Given the description of an element on the screen output the (x, y) to click on. 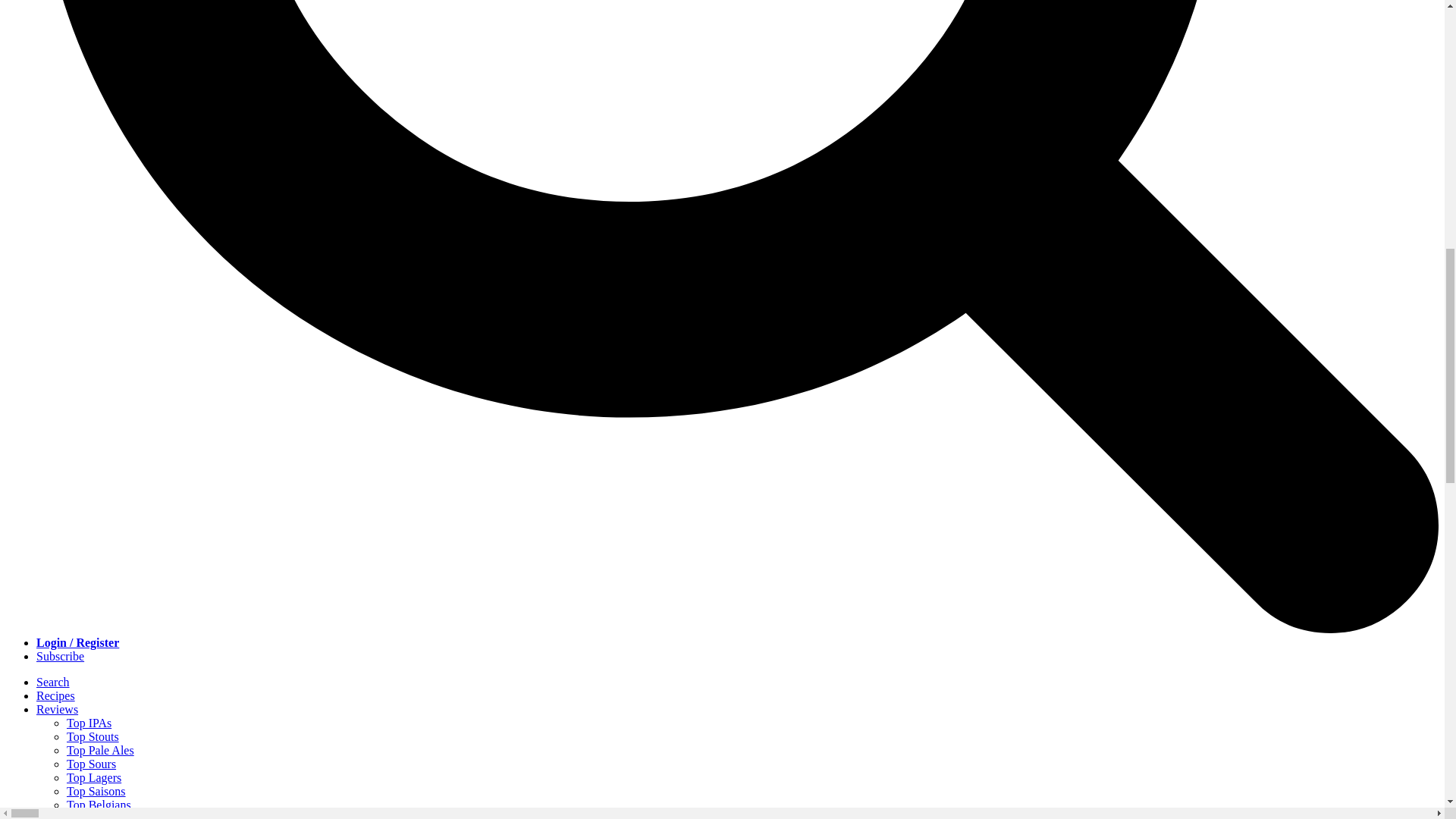
Top Belgians (98, 804)
Search All Reviews (113, 815)
Top Pale Ales (99, 749)
Recipes (55, 695)
Top Stouts (92, 736)
Search (52, 681)
Reviews (57, 708)
Top Lagers (93, 777)
Top Sours (91, 763)
Subscribe (60, 656)
